Given the description of an element on the screen output the (x, y) to click on. 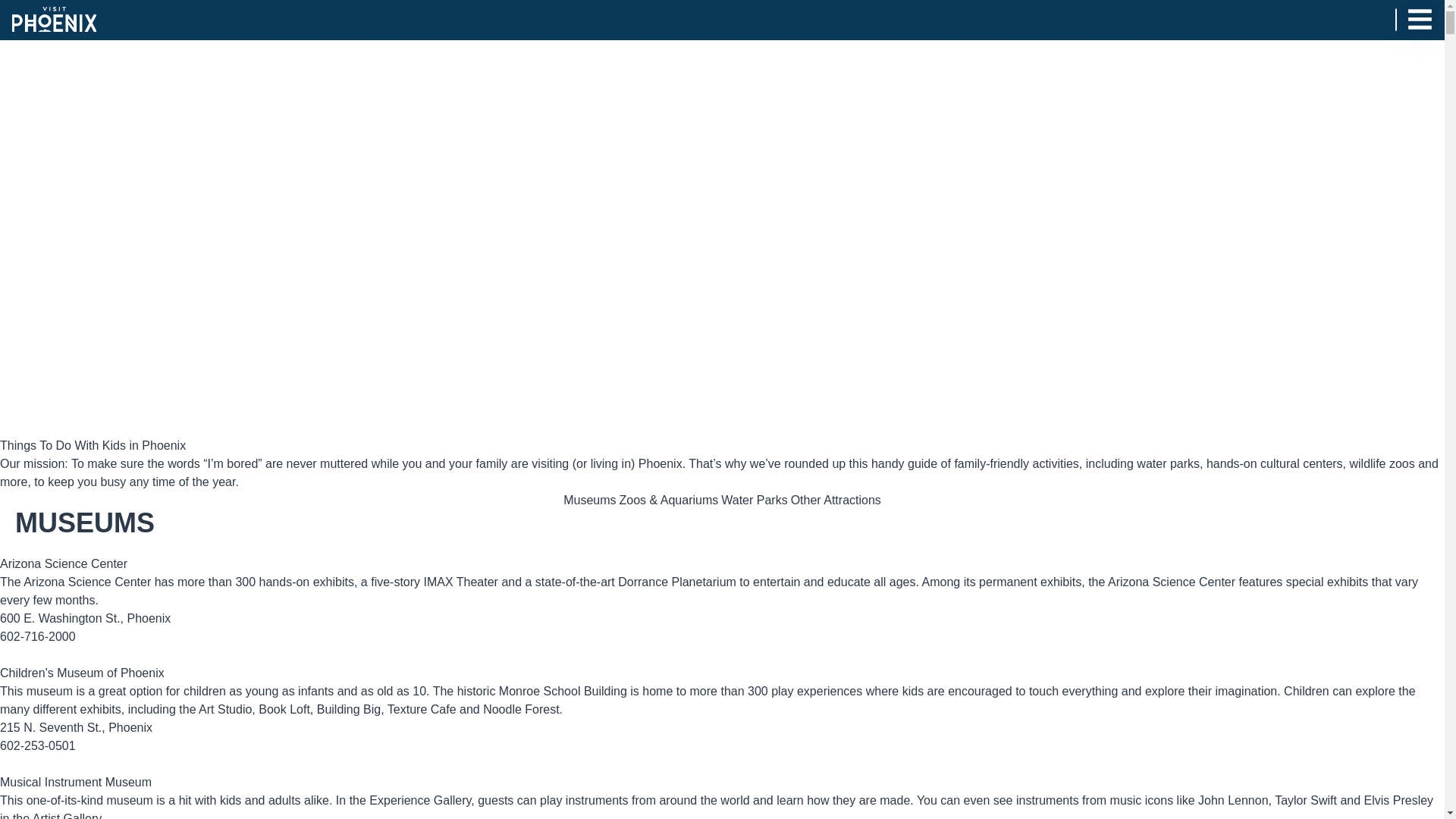
Arizona Science Center (64, 563)
Musical Instrument Museum (75, 781)
Children's Museum of Phoenix (82, 672)
